Given the description of an element on the screen output the (x, y) to click on. 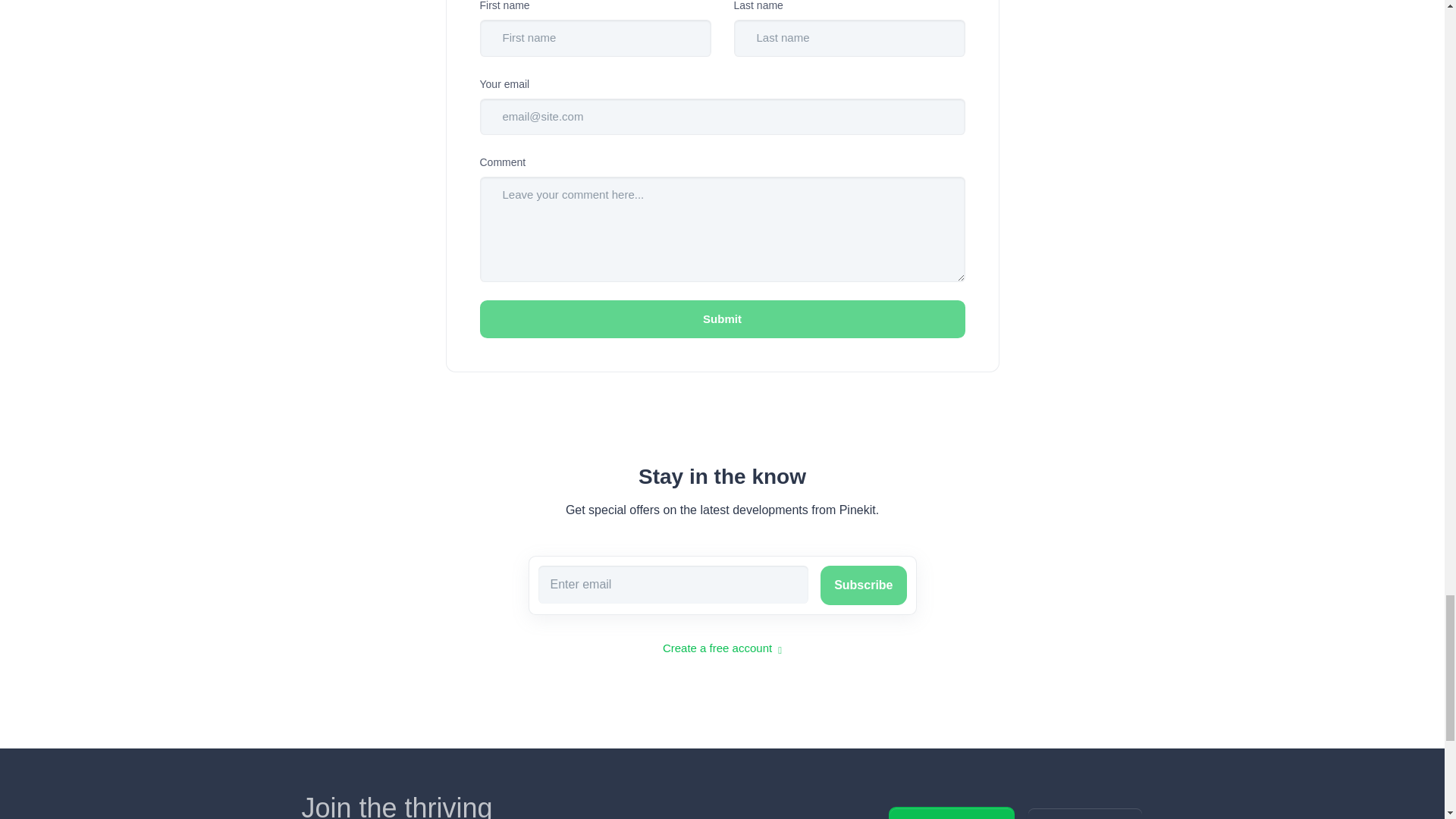
Submit (721, 319)
Request demo (950, 812)
Create a free account (721, 648)
Sign up free (1084, 812)
Subscribe (863, 585)
